Given the description of an element on the screen output the (x, y) to click on. 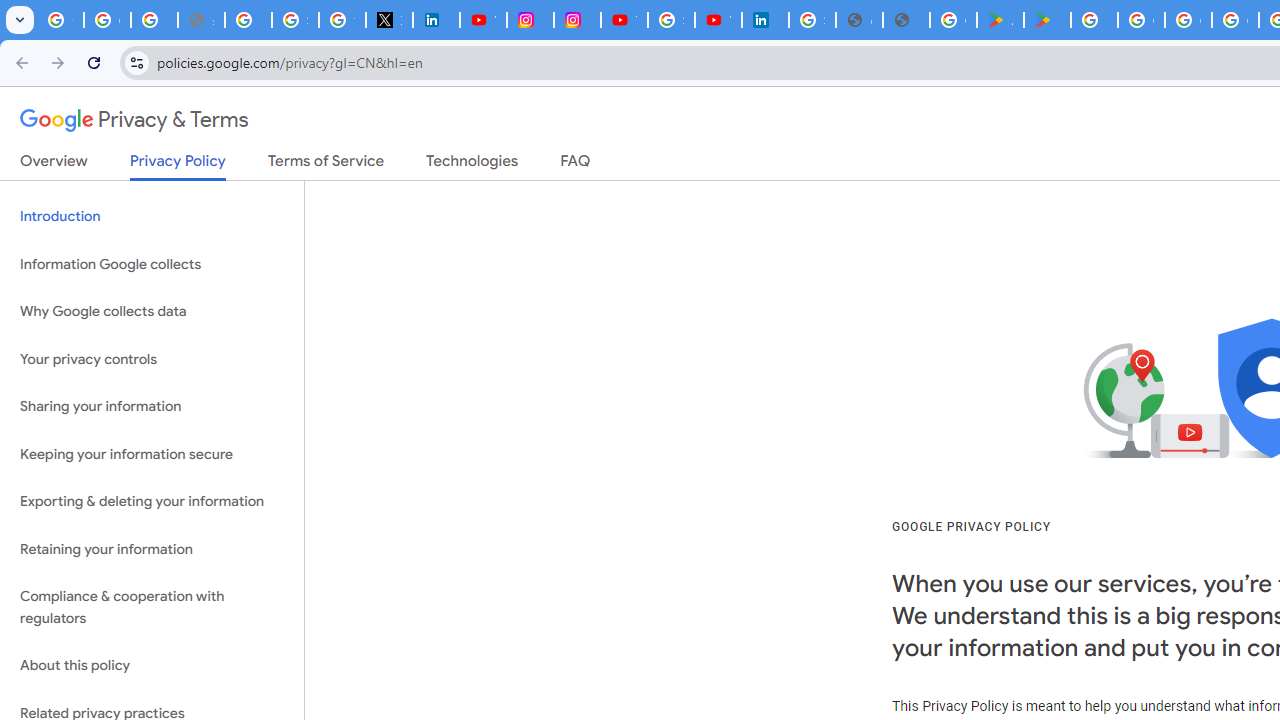
Sign in - Google Accounts (671, 20)
Identity verification via Persona | LinkedIn Help (765, 20)
Sign in - Google Accounts (811, 20)
Privacy Help Center - Policies Help (248, 20)
Overview (54, 165)
Keeping your information secure (152, 453)
Exporting & deleting your information (152, 502)
X (389, 20)
About this policy (152, 666)
